Given the description of an element on the screen output the (x, y) to click on. 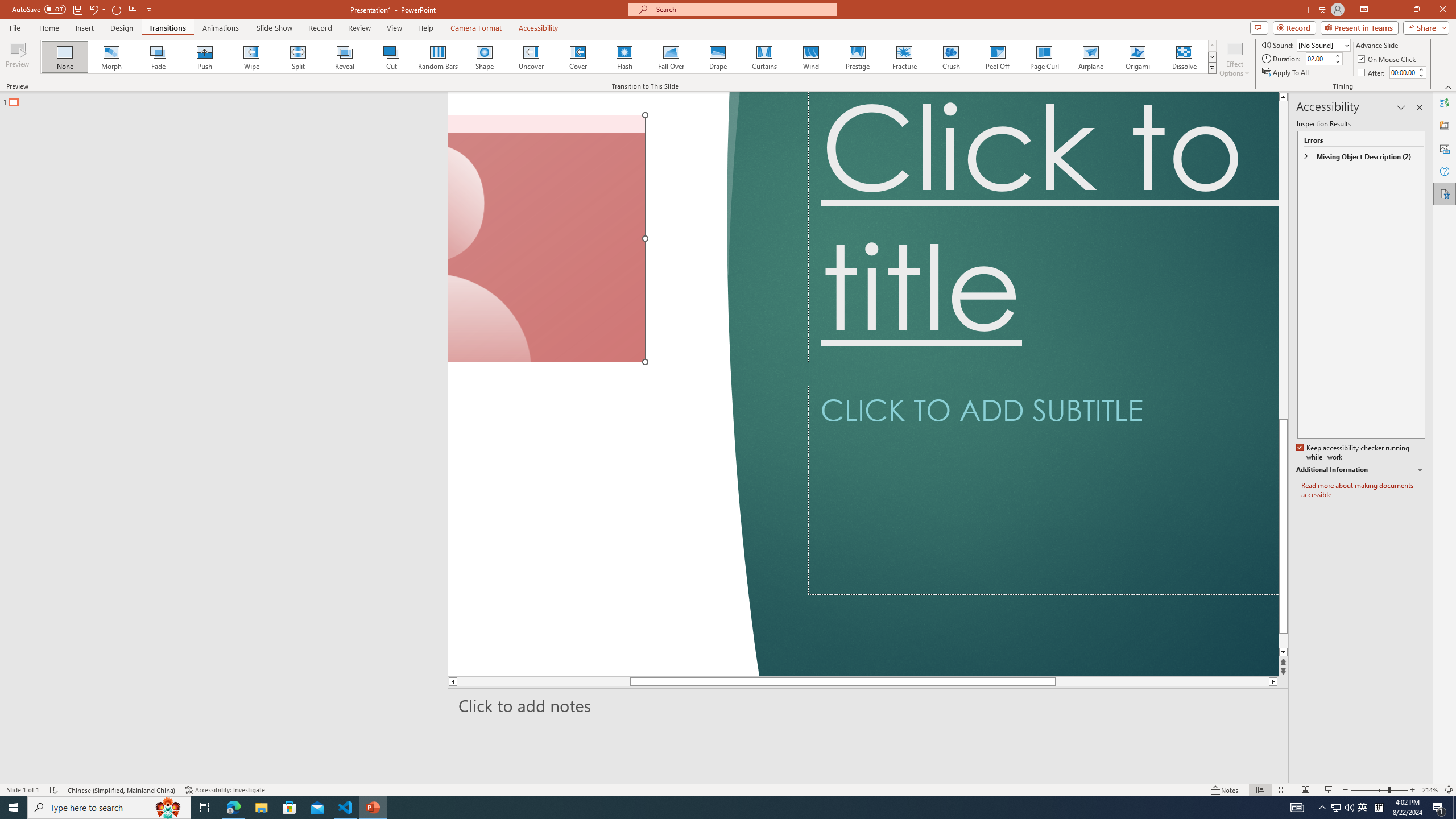
Split (298, 56)
Crush (950, 56)
AutomationID: AnimationTransitionGallery (628, 56)
Keep accessibility checker running while I work (1353, 452)
More (1420, 69)
Prestige (857, 56)
